Given the description of an element on the screen output the (x, y) to click on. 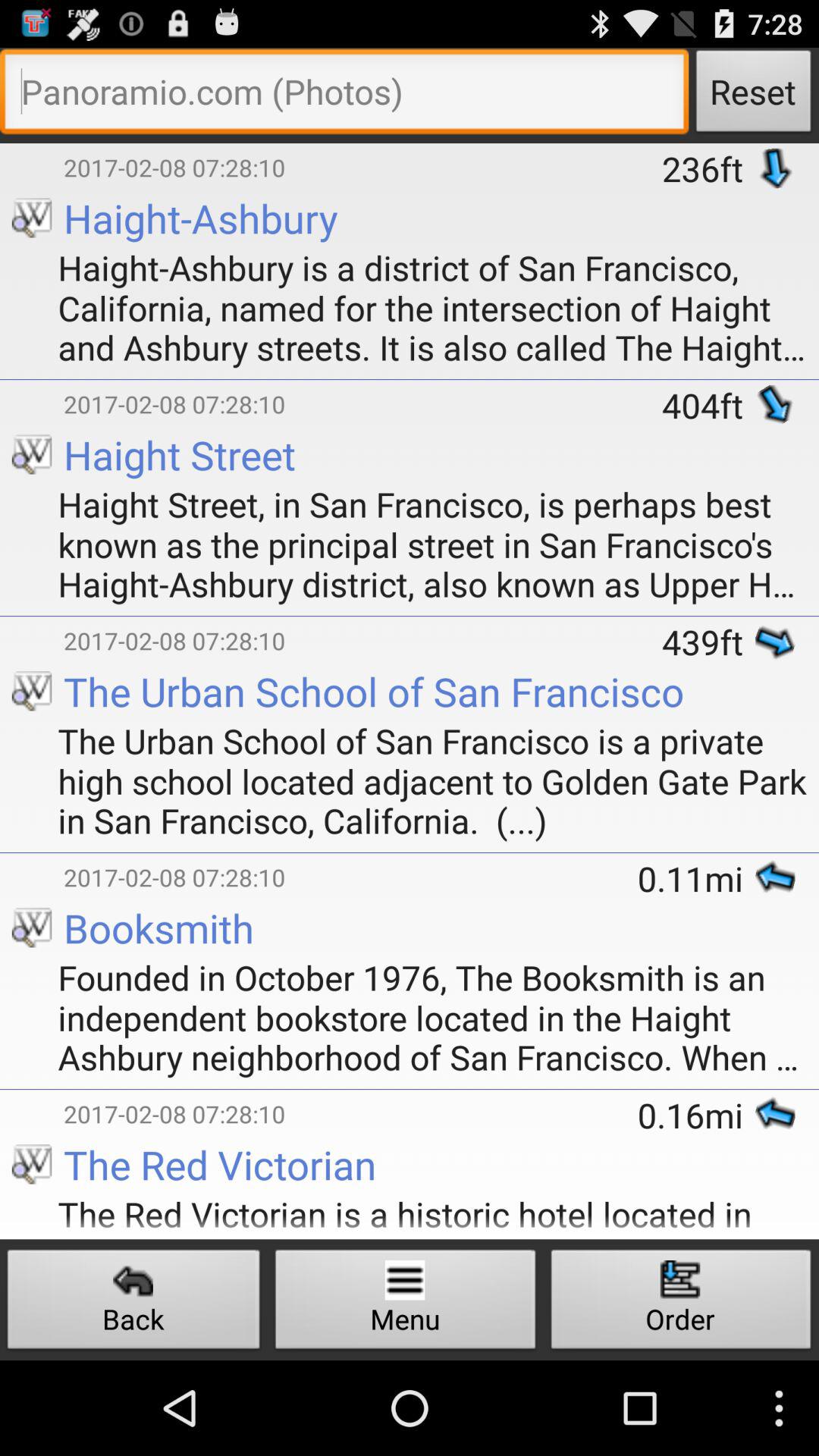
turn off button to the right of menu button (681, 1303)
